Given the description of an element on the screen output the (x, y) to click on. 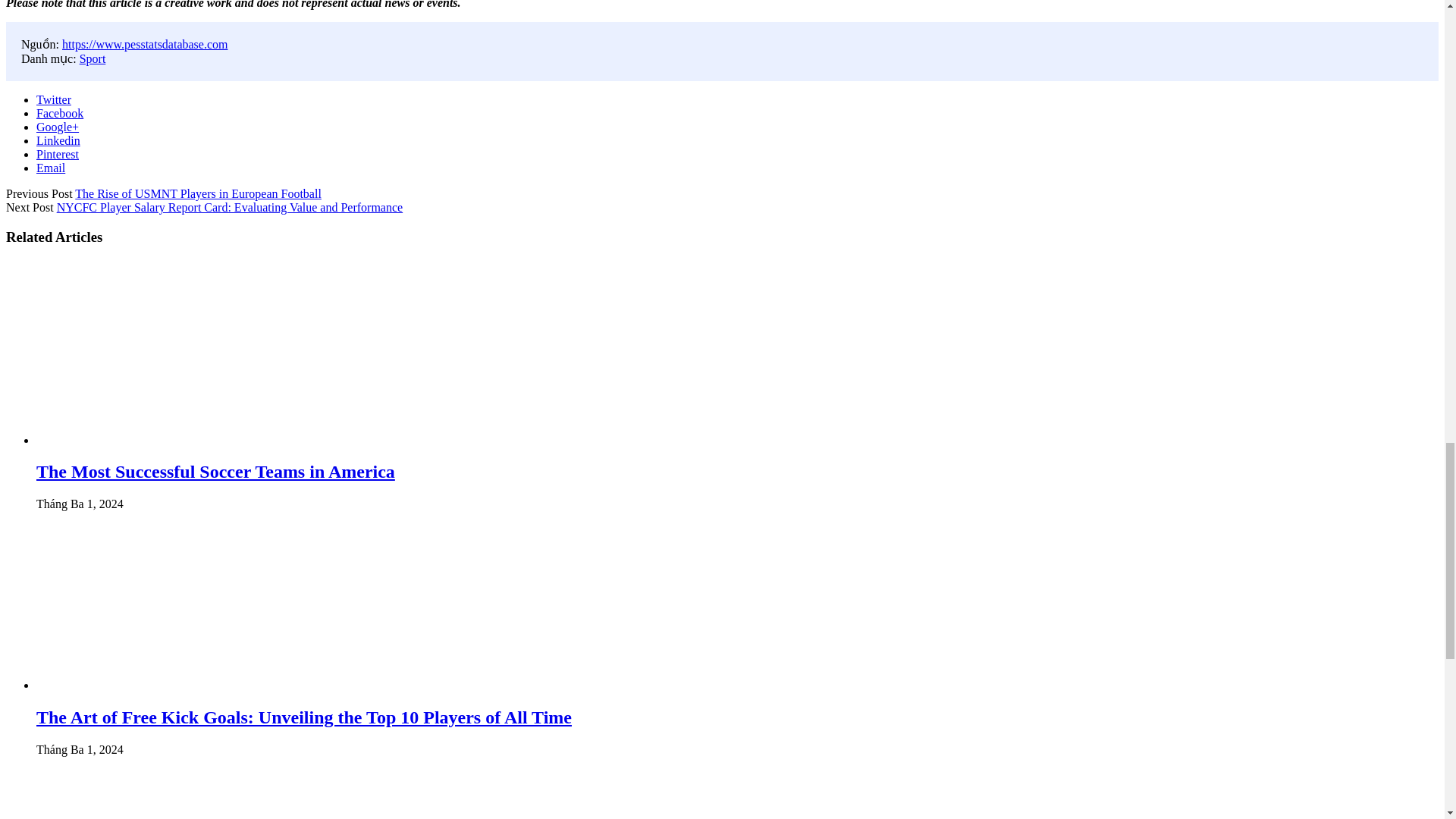
Pinterest (57, 154)
The Rise of USMNT Players in European Football (198, 193)
Linkedin (58, 140)
Twitter (53, 99)
The Most Successful Soccer Teams in America (215, 471)
Email (50, 167)
Facebook (59, 113)
Sport (93, 58)
